Given the description of an element on the screen output the (x, y) to click on. 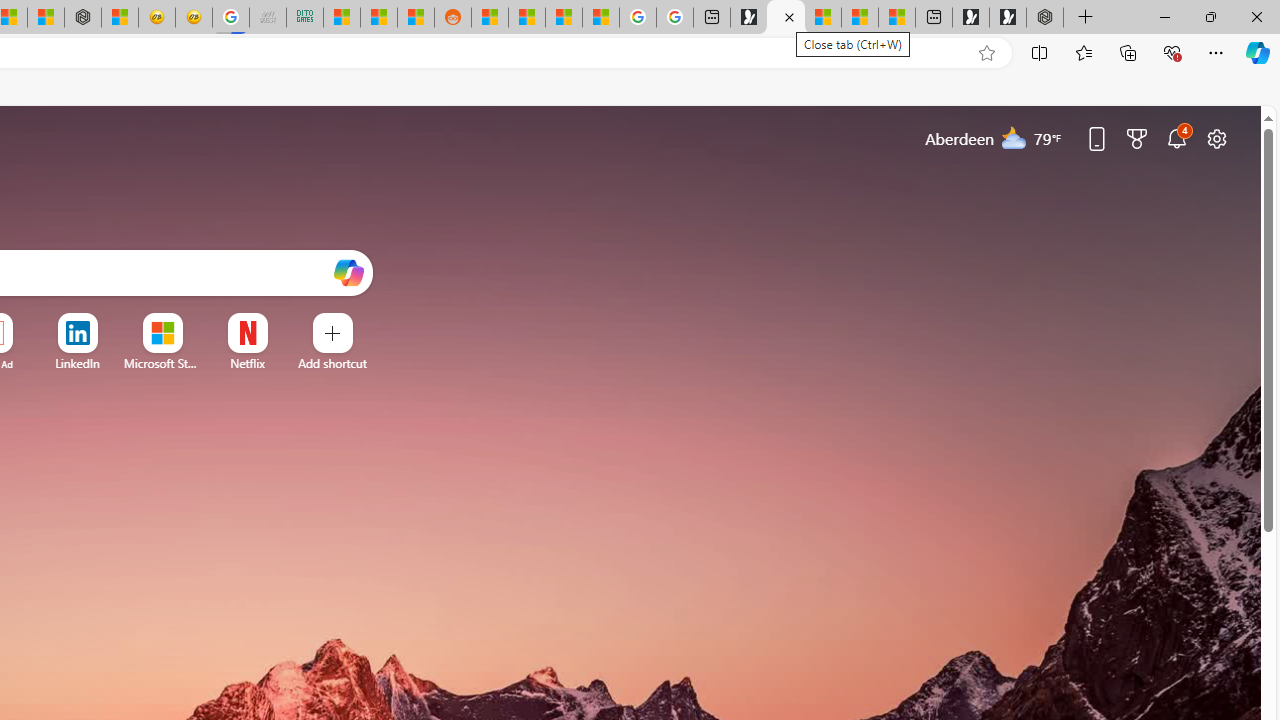
Page settings (1216, 138)
